Given the description of an element on the screen output the (x, y) to click on. 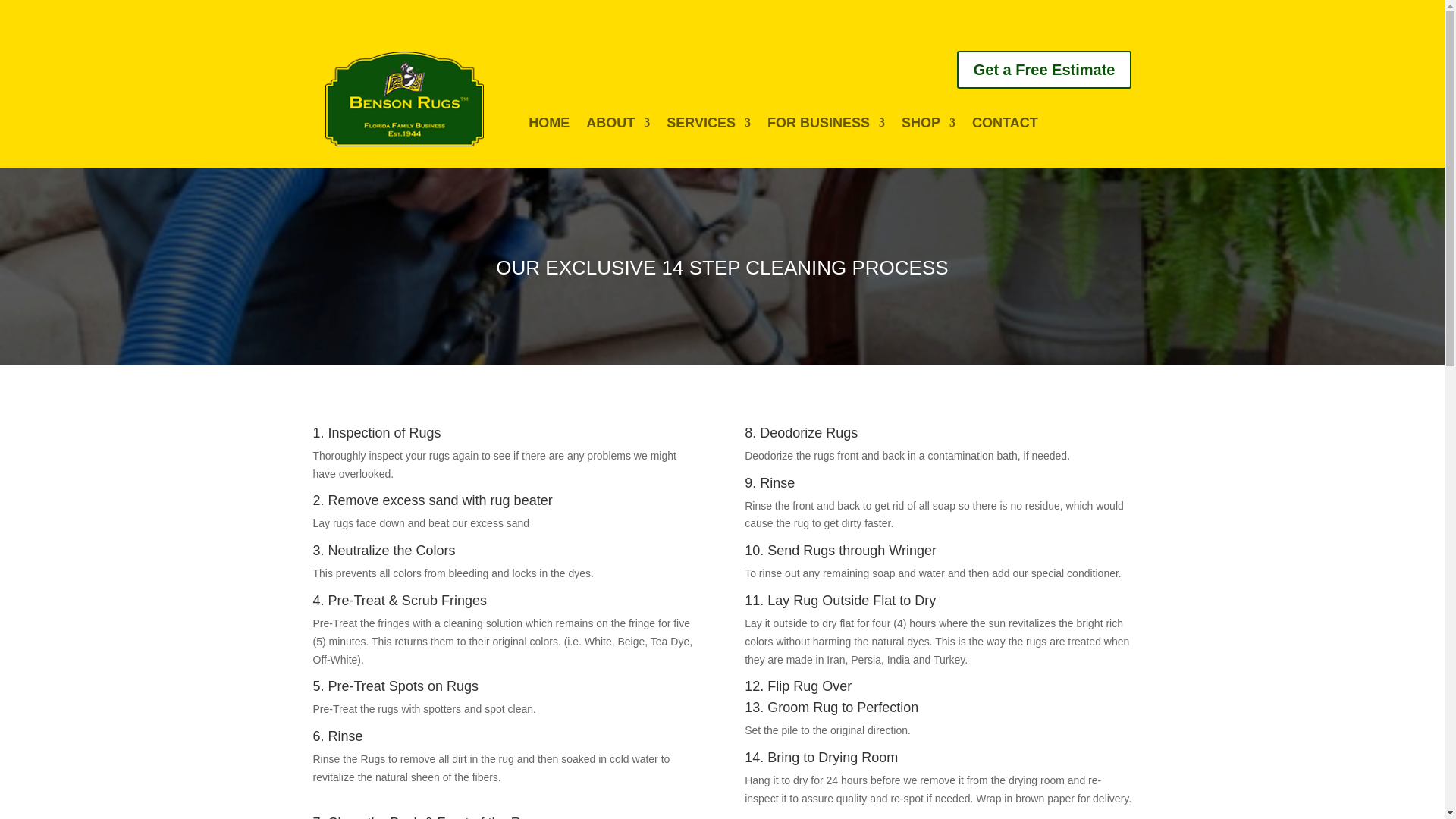
SERVICES (708, 125)
FOR BUSINESS (826, 125)
CONTACT (1005, 125)
benson rugs logo 215 (403, 98)
Get a Free Estimate (1044, 69)
SHOP (928, 125)
HOME (548, 125)
ABOUT (617, 125)
